Given the description of an element on the screen output the (x, y) to click on. 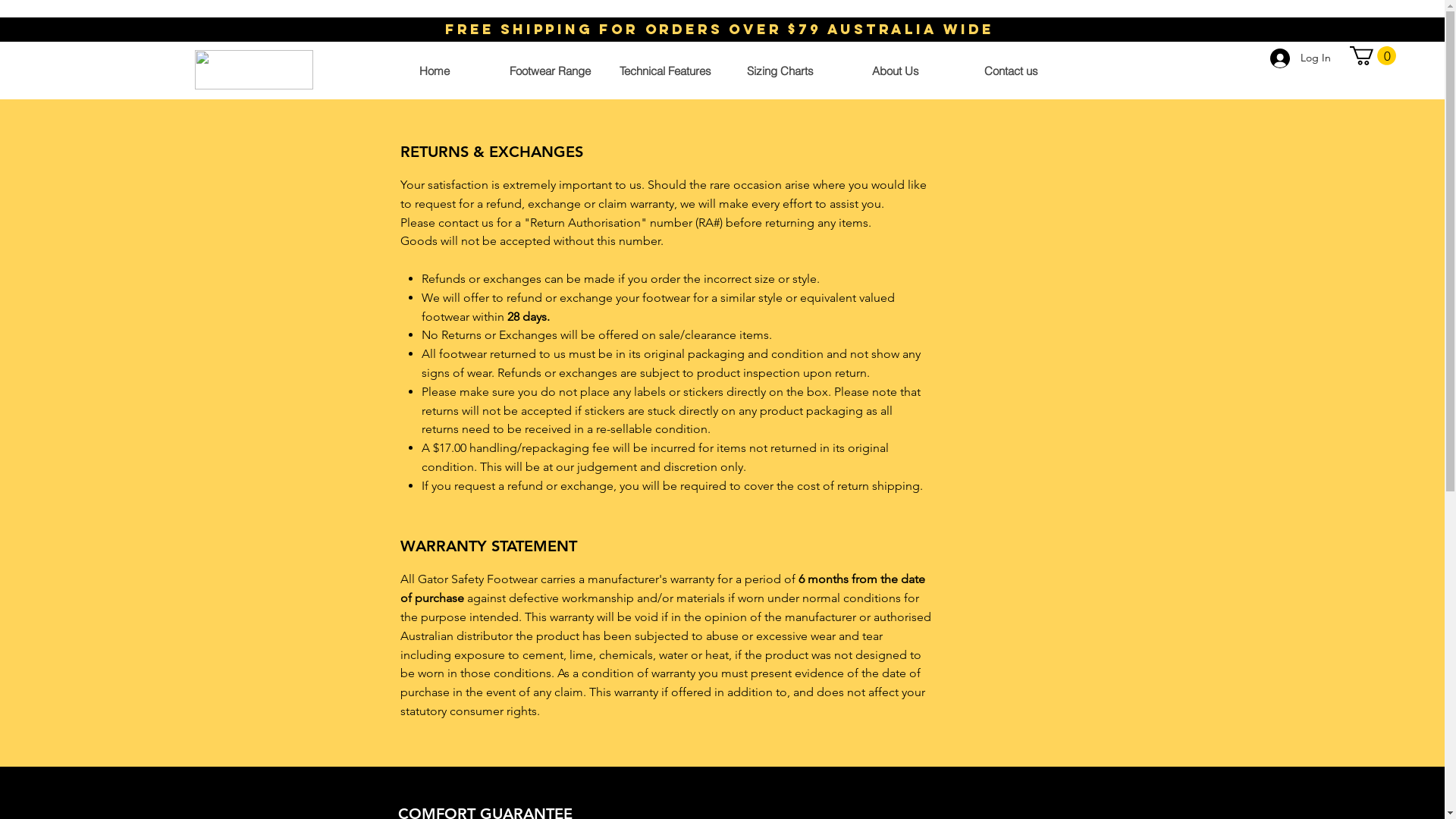
Contact us Element type: text (1009, 70)
Log In Element type: text (1300, 57)
Footwear Range Element type: text (548, 70)
0 Element type: text (1372, 55)
Sizing Charts Element type: text (779, 70)
Home Element type: text (433, 70)
Technical Features Element type: text (663, 70)
About Us Element type: text (894, 70)
